Given the description of an element on the screen output the (x, y) to click on. 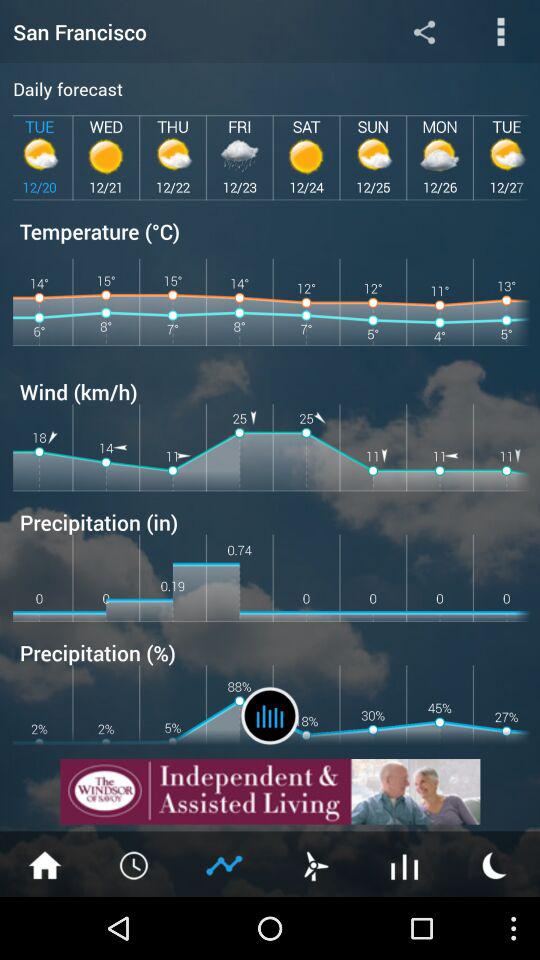
page actions (500, 31)
